Given the description of an element on the screen output the (x, y) to click on. 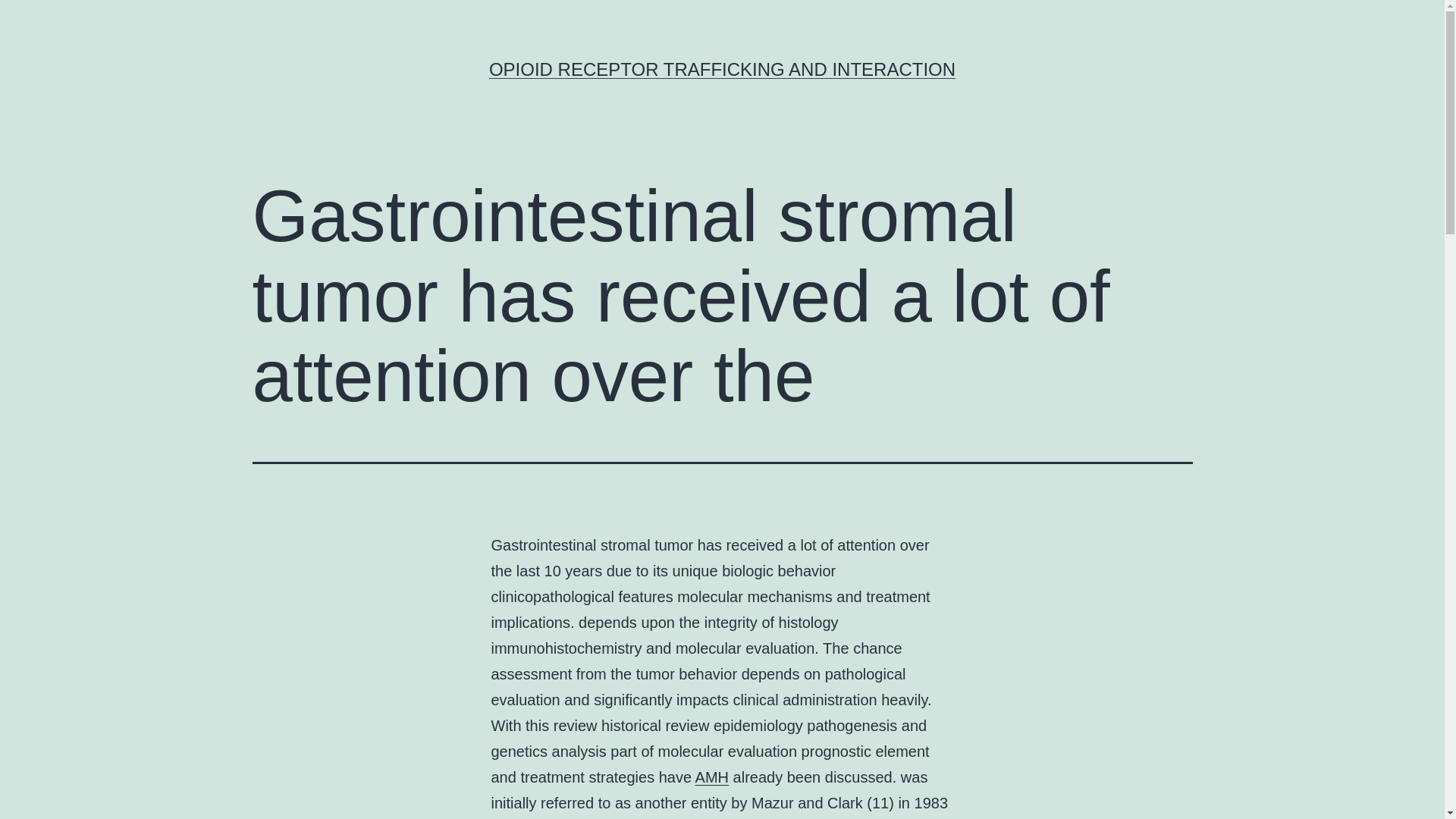
AMH (712, 777)
OPIOID RECEPTOR TRAFFICKING AND INTERACTION (722, 68)
